Given the description of an element on the screen output the (x, y) to click on. 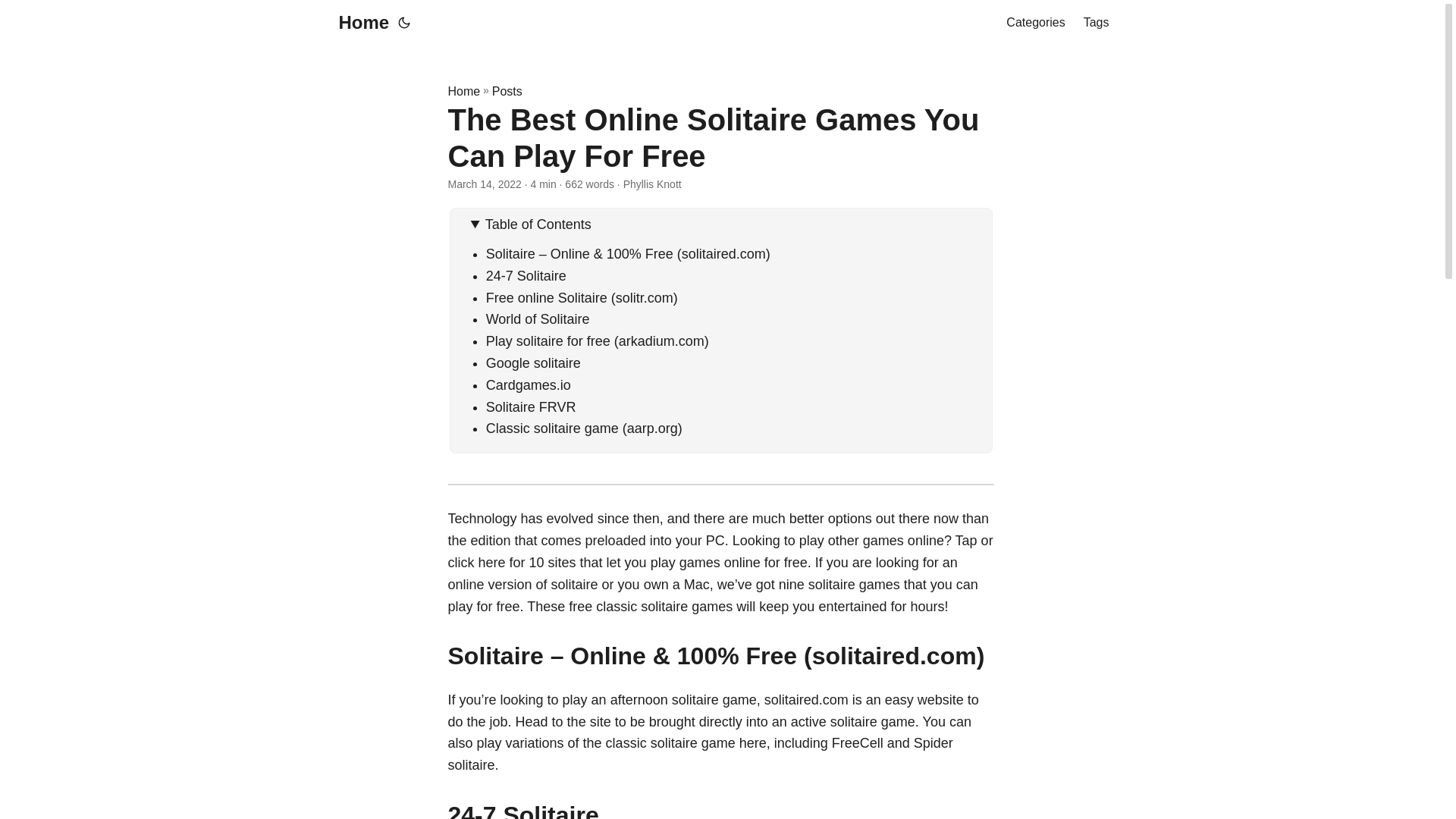
Google solitaire (533, 363)
Posts (507, 91)
24-7 Solitaire (526, 275)
Cardgames.io (528, 385)
Categories (1035, 22)
Home (463, 91)
Solitaire FRVR (531, 406)
Home (359, 22)
World of Solitaire (537, 319)
Categories (1035, 22)
